Given the description of an element on the screen output the (x, y) to click on. 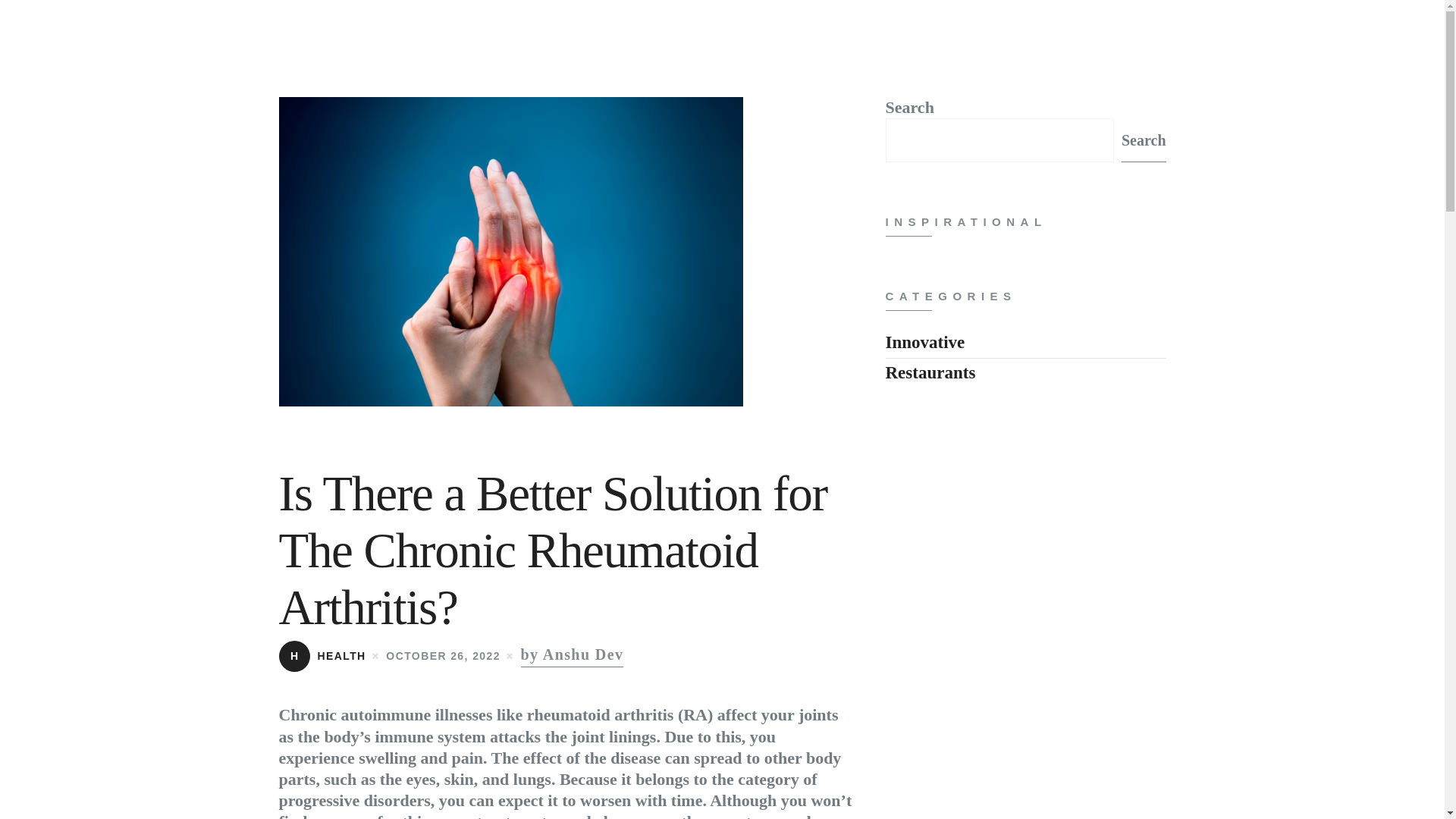
by Anshu Dev (572, 654)
HHEALTH (322, 655)
OCTOBER 26, 2022 (442, 655)
Search (1143, 139)
Innovative (925, 341)
Restaurants (930, 372)
